Given the description of an element on the screen output the (x, y) to click on. 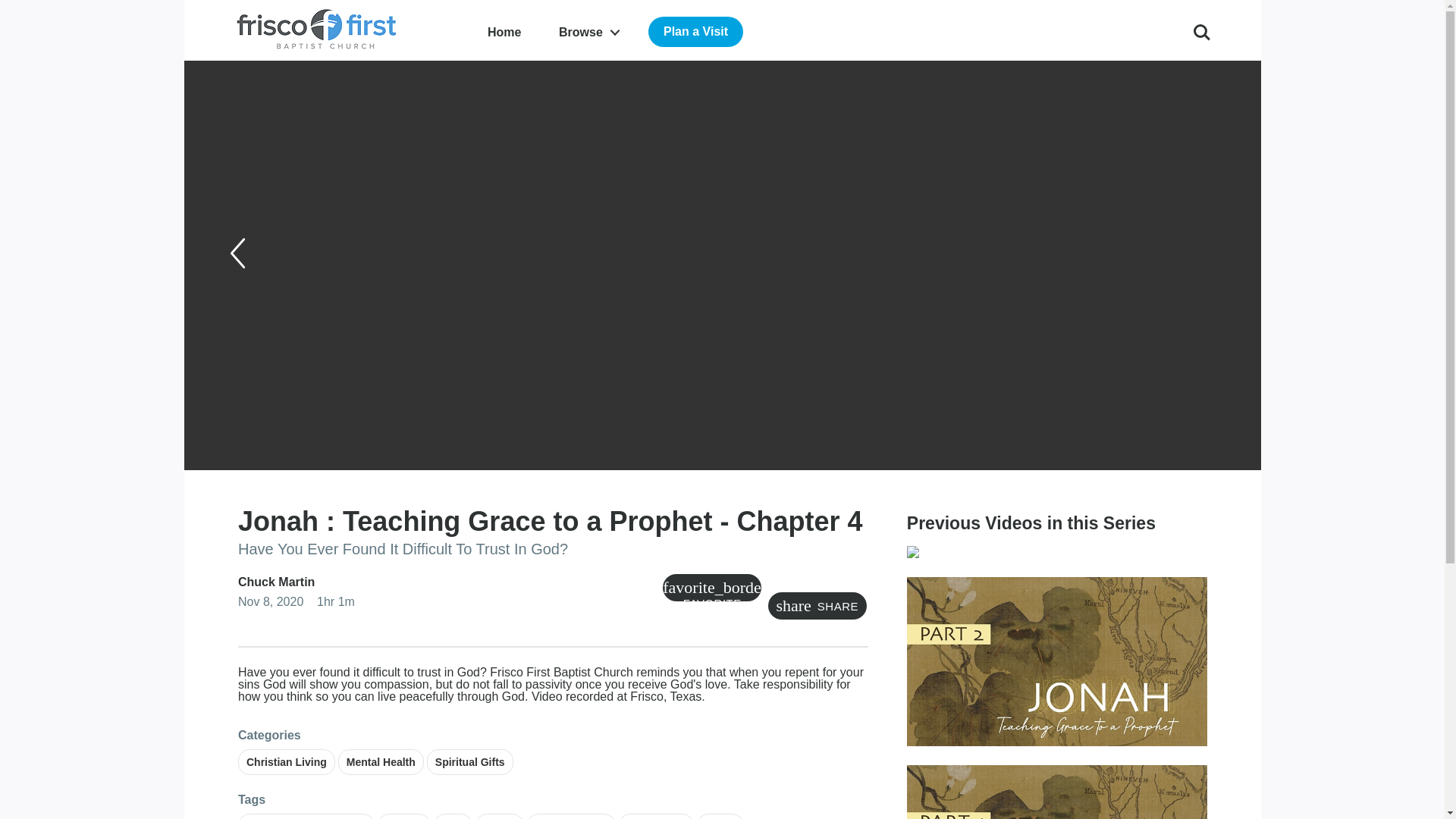
Browse (588, 32)
